Given the description of an element on the screen output the (x, y) to click on. 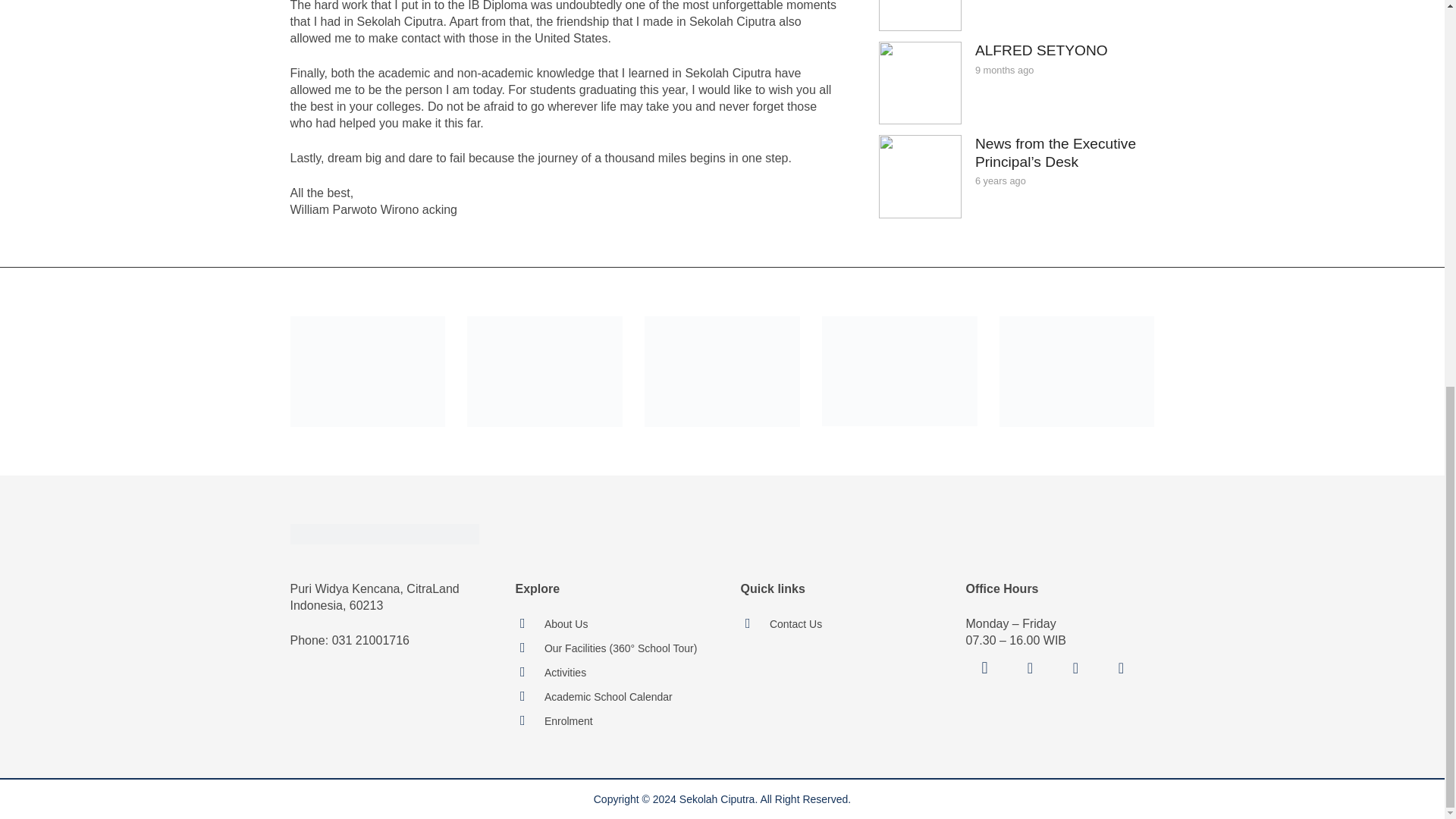
LinkedIn (1121, 668)
Facebook (1030, 668)
YouTube (1075, 668)
Back to top (1413, 115)
Instagram (985, 668)
